Given the description of an element on the screen output the (x, y) to click on. 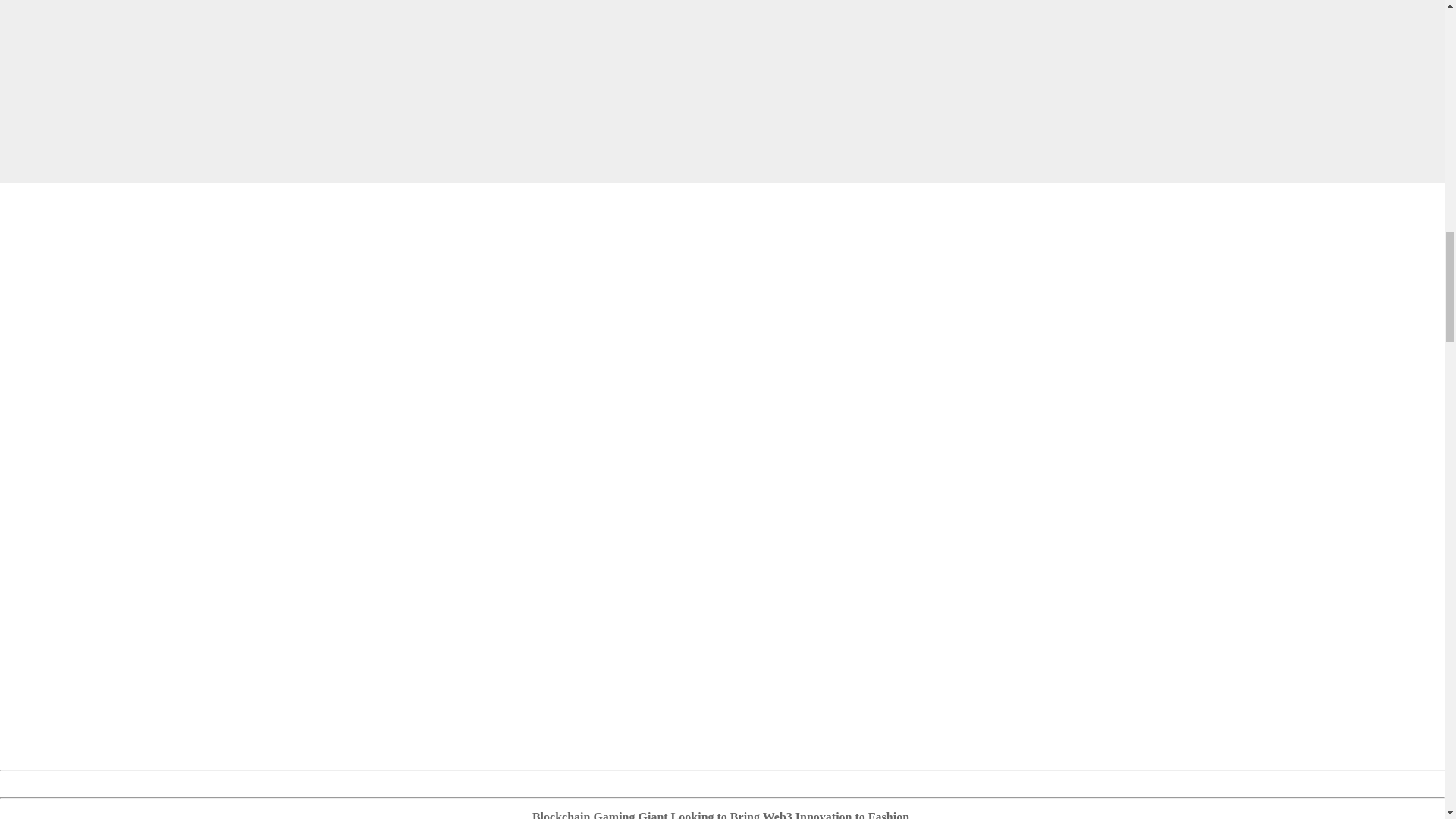
ChainGuardian - E-Crypto News (379, 83)
